Given the description of an element on the screen output the (x, y) to click on. 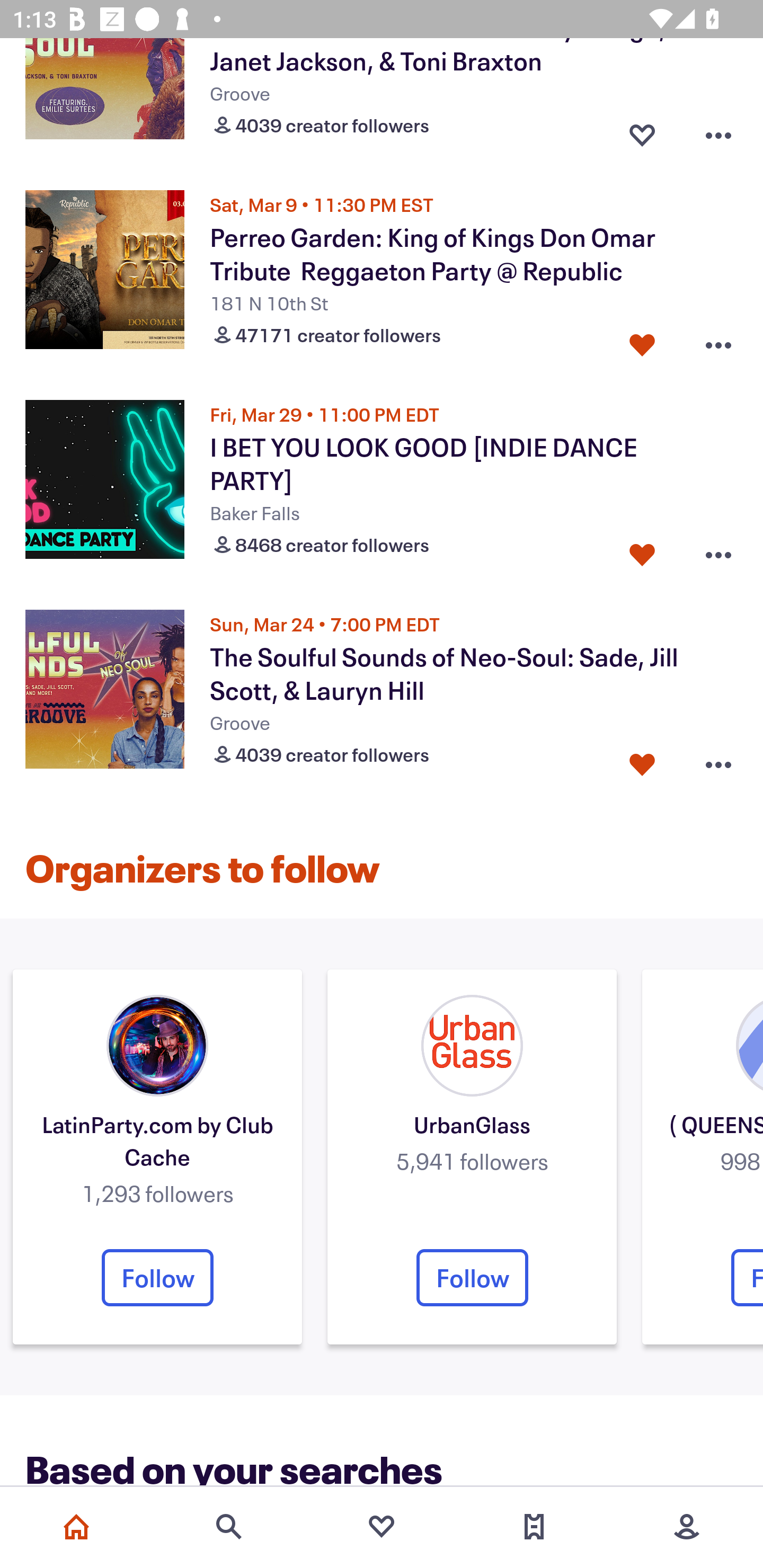
Favorite button (642, 130)
Overflow menu button (718, 130)
Favorite button (642, 340)
Overflow menu button (718, 340)
Favorite button (642, 550)
Overflow menu button (718, 550)
Favorite button (642, 760)
Overflow menu button (718, 760)
Follow Organizer's follow button (157, 1277)
Follow Organizer's follow button (471, 1277)
Home (76, 1526)
Search events (228, 1526)
Favorites (381, 1526)
Tickets (533, 1526)
More (686, 1526)
